Given the description of an element on the screen output the (x, y) to click on. 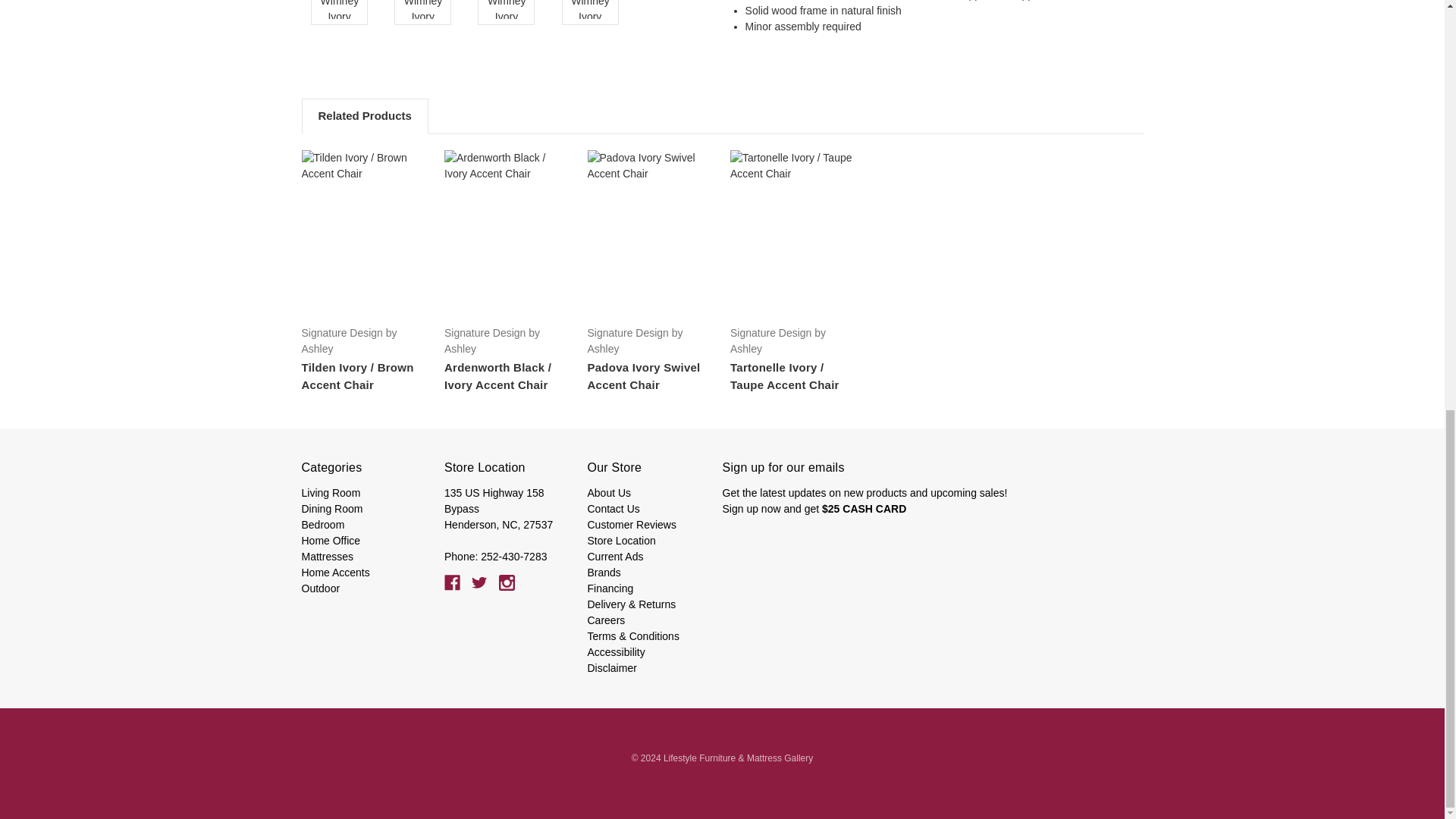
Wimney Ivory Accent Chair (506, 9)
Wimney Ivory Accent Chair (339, 9)
Wimney Ivory Accent Chair (589, 9)
Wimney Ivory Accent Chair (423, 9)
